Given the description of an element on the screen output the (x, y) to click on. 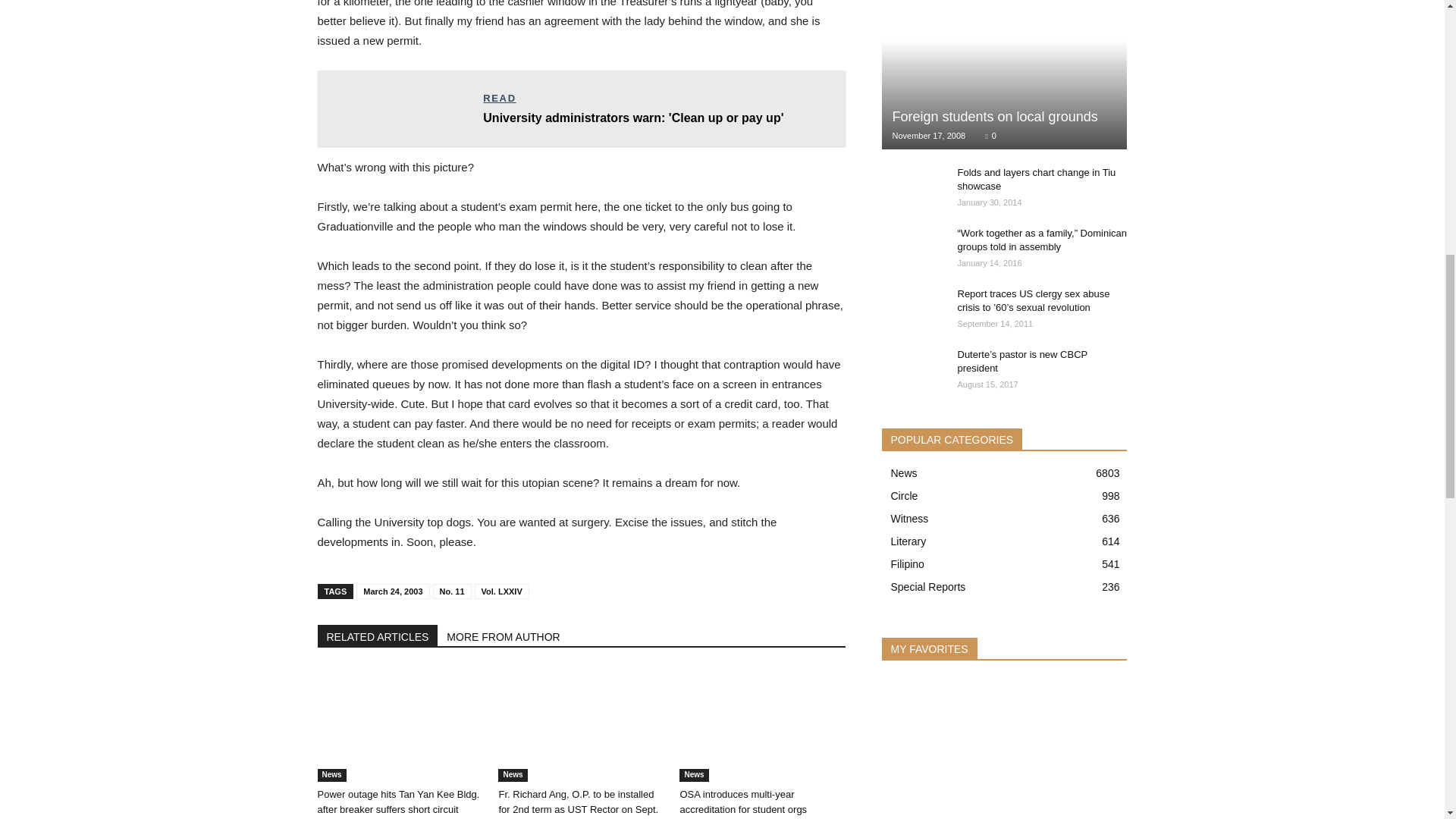
OSA introduces multi-year accreditation for student orgs (761, 725)
